Given the description of an element on the screen output the (x, y) to click on. 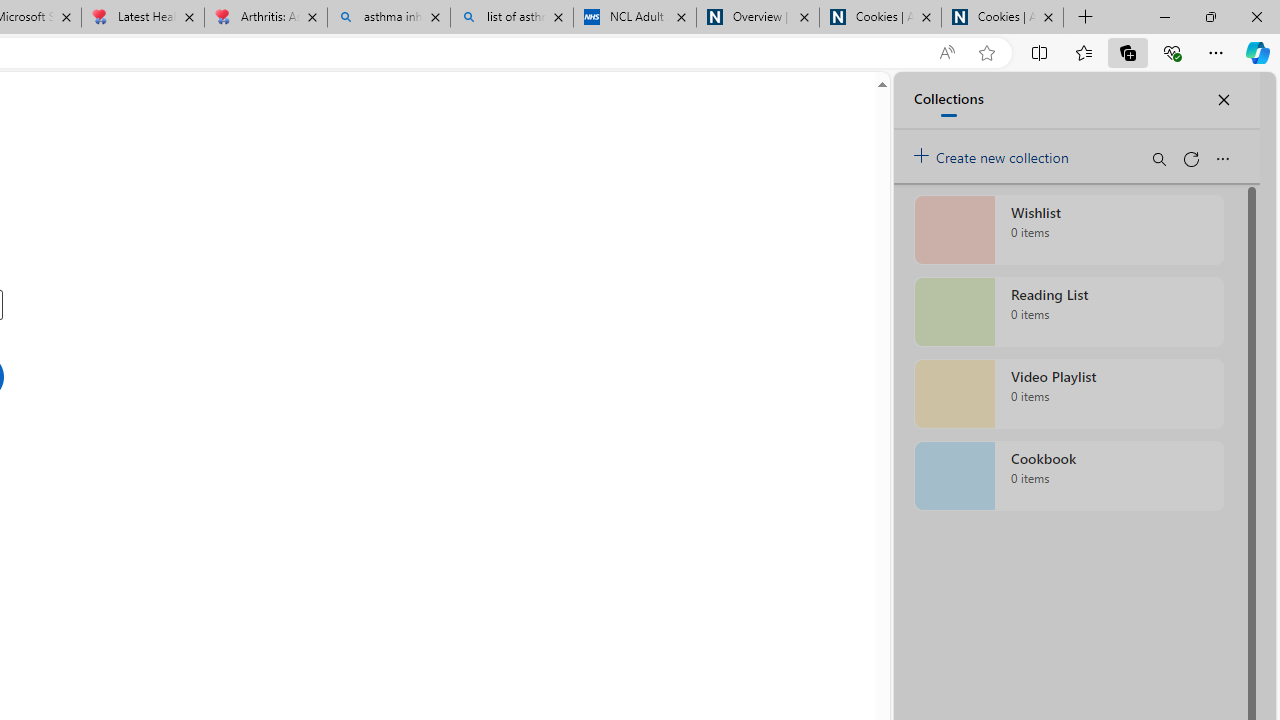
asthma inhaler - Search (388, 17)
Arthritis: Ask Health Professionals (265, 17)
